Given the description of an element on the screen output the (x, y) to click on. 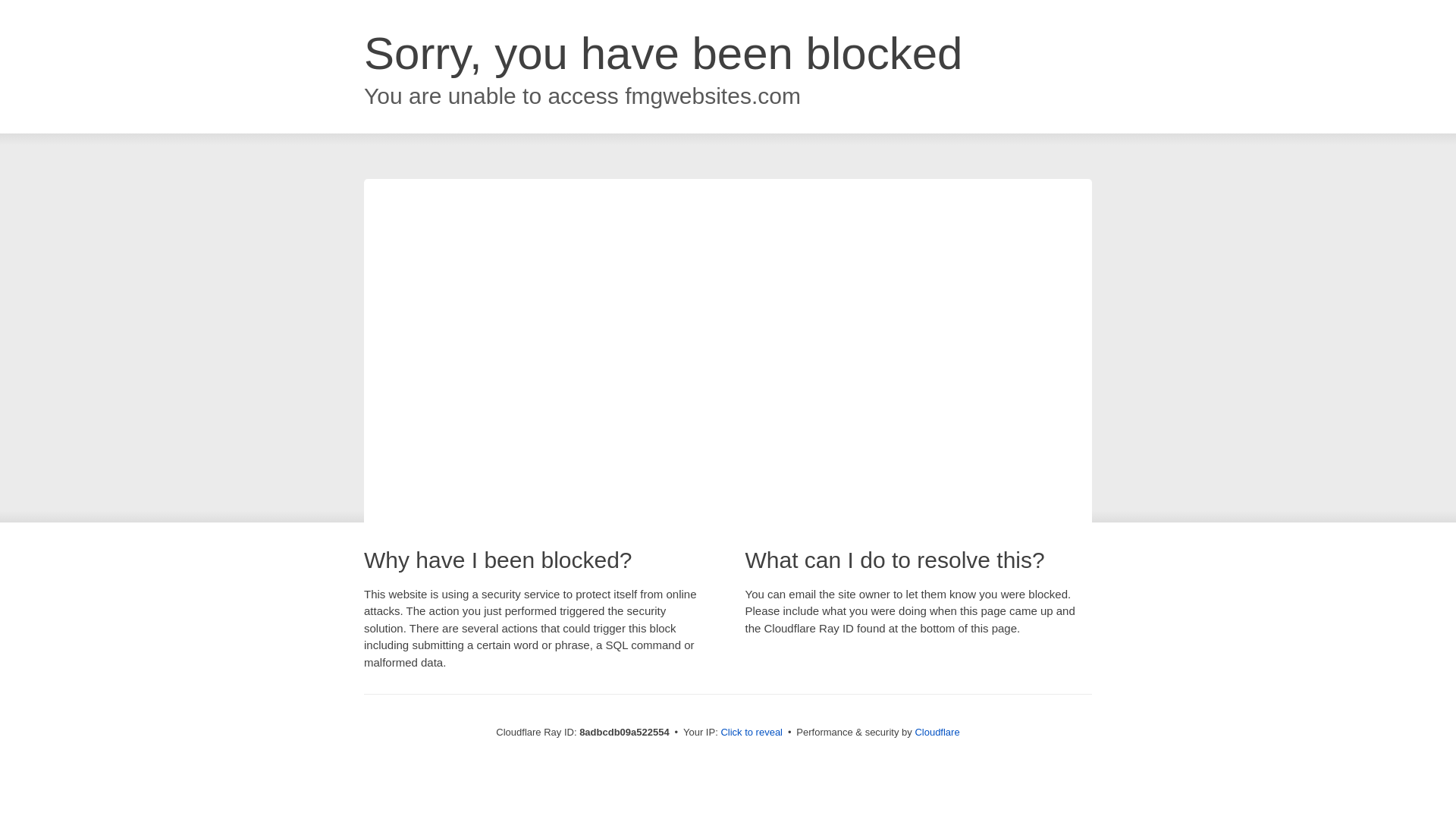
Cloudflare (936, 731)
Click to reveal (751, 732)
